Given the description of an element on the screen output the (x, y) to click on. 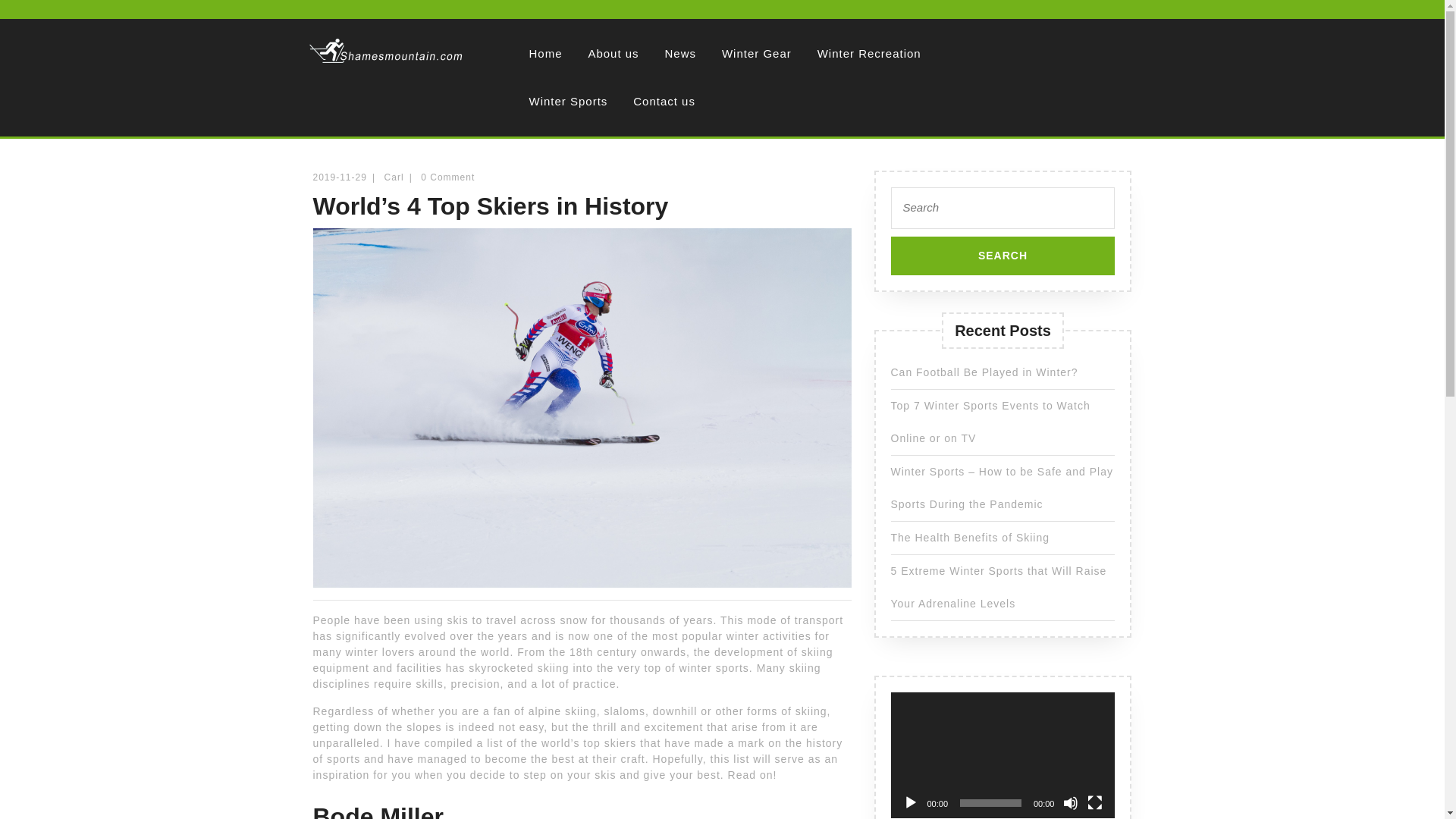
Home (544, 53)
Fullscreen (1094, 802)
About us (612, 53)
Winter Recreation (869, 53)
The Health Benefits of Skiing (969, 536)
Search (1002, 255)
Search (1002, 255)
Search (1002, 255)
Winter Sports (567, 100)
News (680, 53)
Mute (1070, 802)
Top 7 Winter Sports Events to Watch Online or on TV (989, 420)
Can Football Be Played in Winter? (983, 371)
Play (909, 802)
Contact us (663, 100)
